Given the description of an element on the screen output the (x, y) to click on. 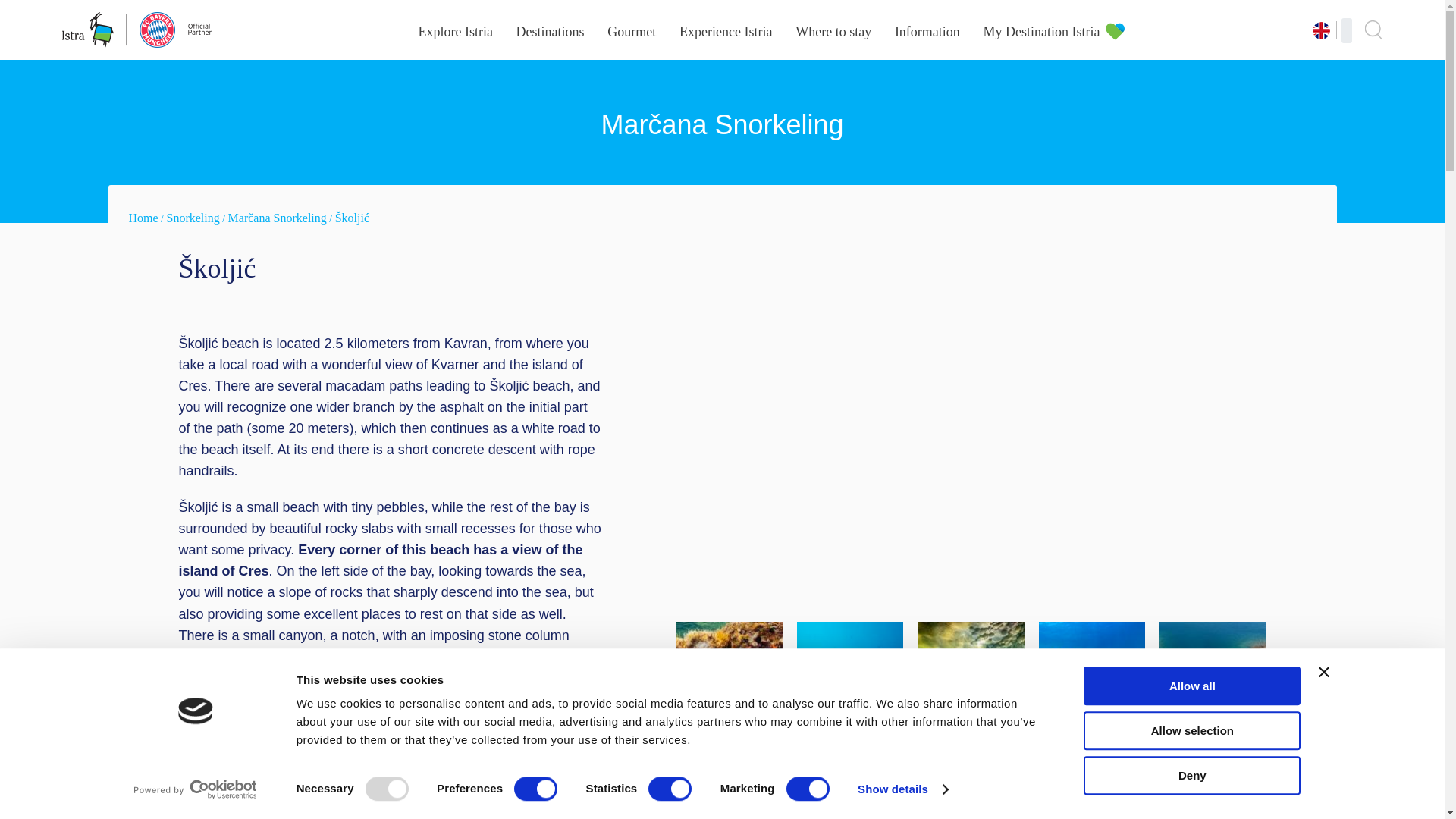
Show details (902, 789)
